Given the description of an element on the screen output the (x, y) to click on. 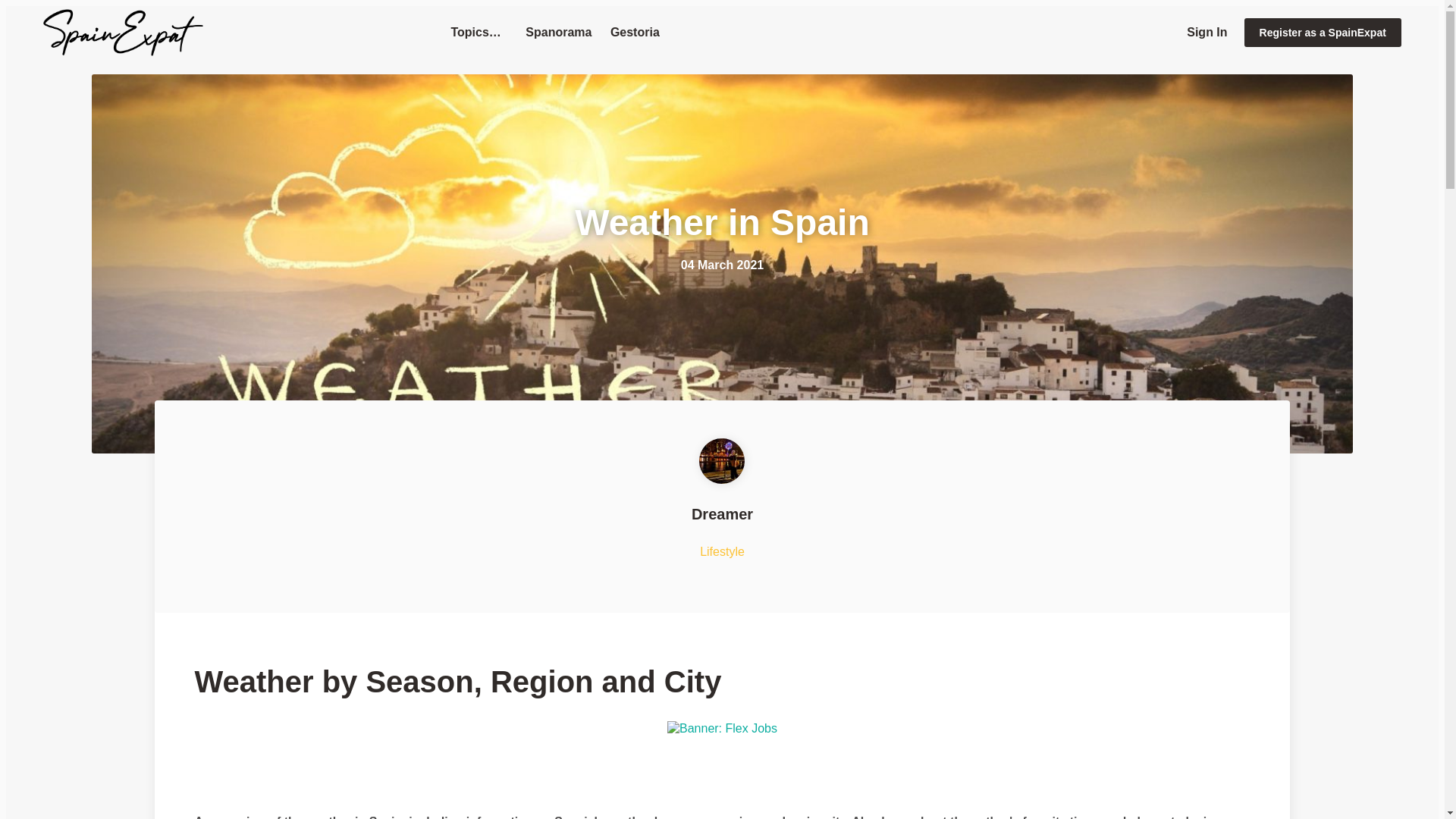
Lifestyle (722, 551)
Spanorama (558, 32)
Gestoria (634, 32)
Register as a SpainExpat (1322, 32)
Sign In (1206, 32)
